Given the description of an element on the screen output the (x, y) to click on. 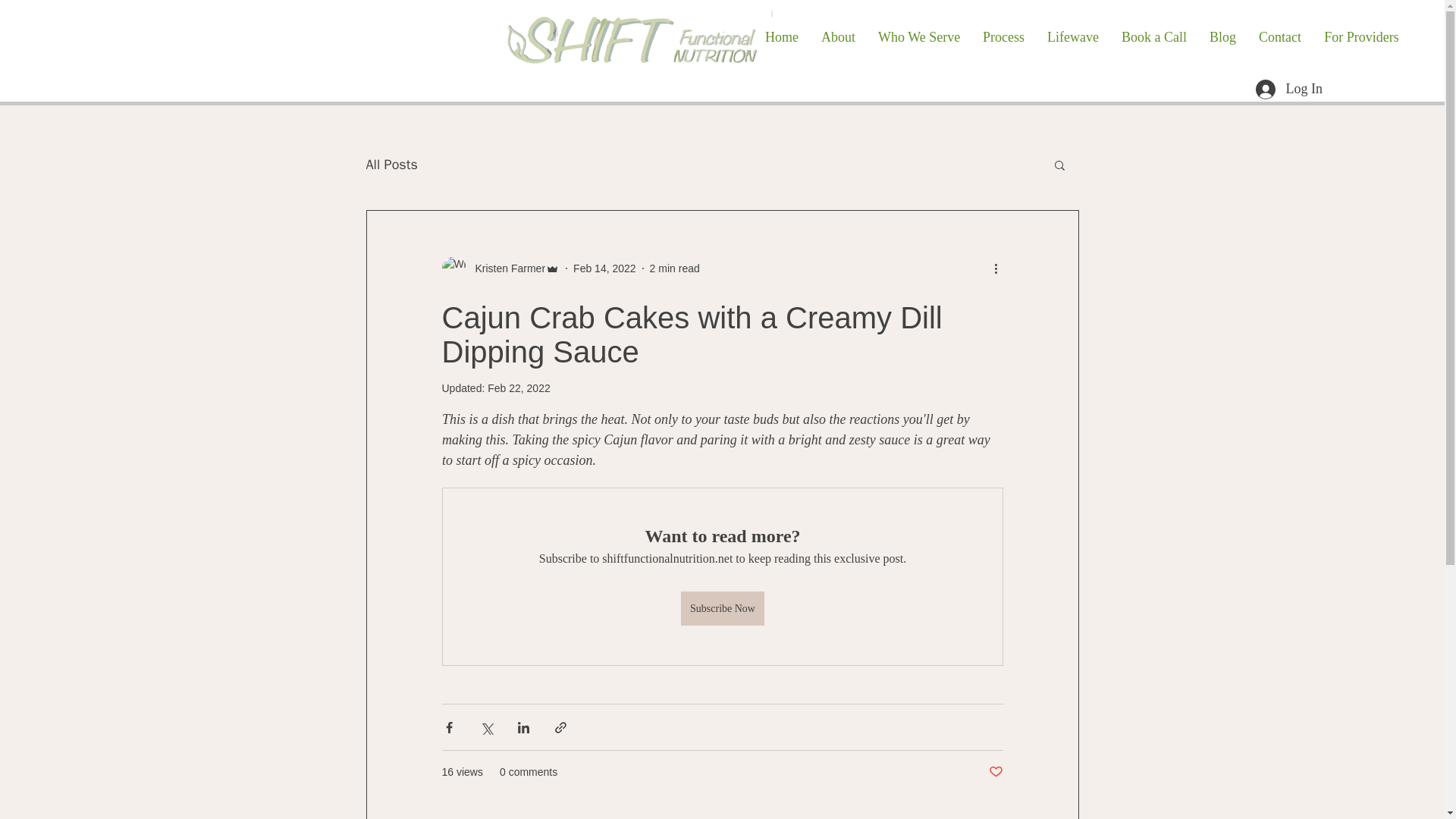
All Posts (390, 164)
Lifewave (1072, 37)
Feb 14, 2022 (604, 268)
Book a Call (1153, 37)
Who We Serve (918, 37)
For Providers (1361, 37)
Process (1003, 37)
Kristen Farmer (504, 268)
Kristen Farmer (500, 268)
Post not marked as liked (995, 772)
Log In (1288, 89)
Blog (1222, 37)
2 min read (674, 268)
Contact (1280, 37)
Home (781, 37)
